Given the description of an element on the screen output the (x, y) to click on. 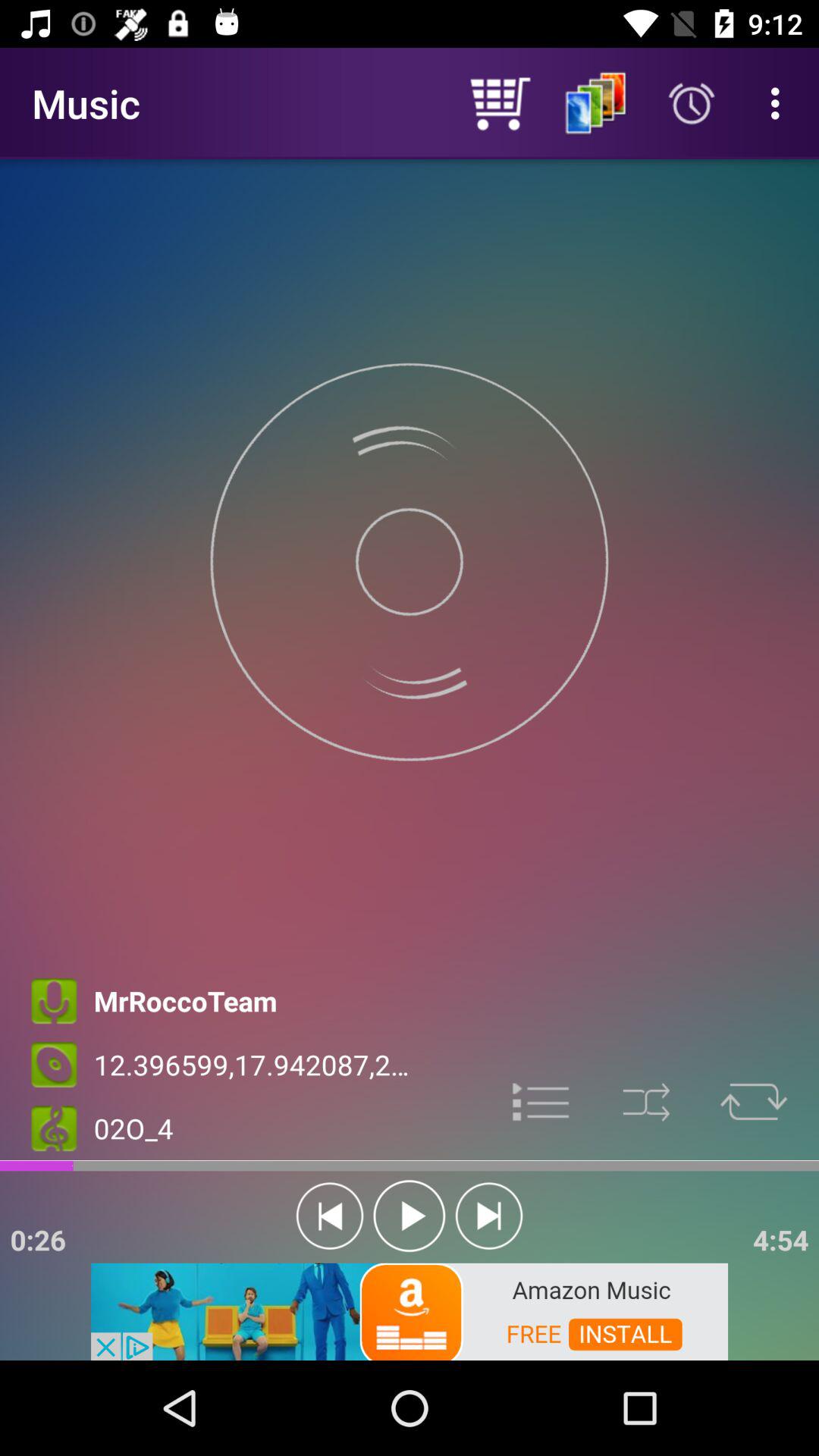
shuffle (646, 1102)
